Given the description of an element on the screen output the (x, y) to click on. 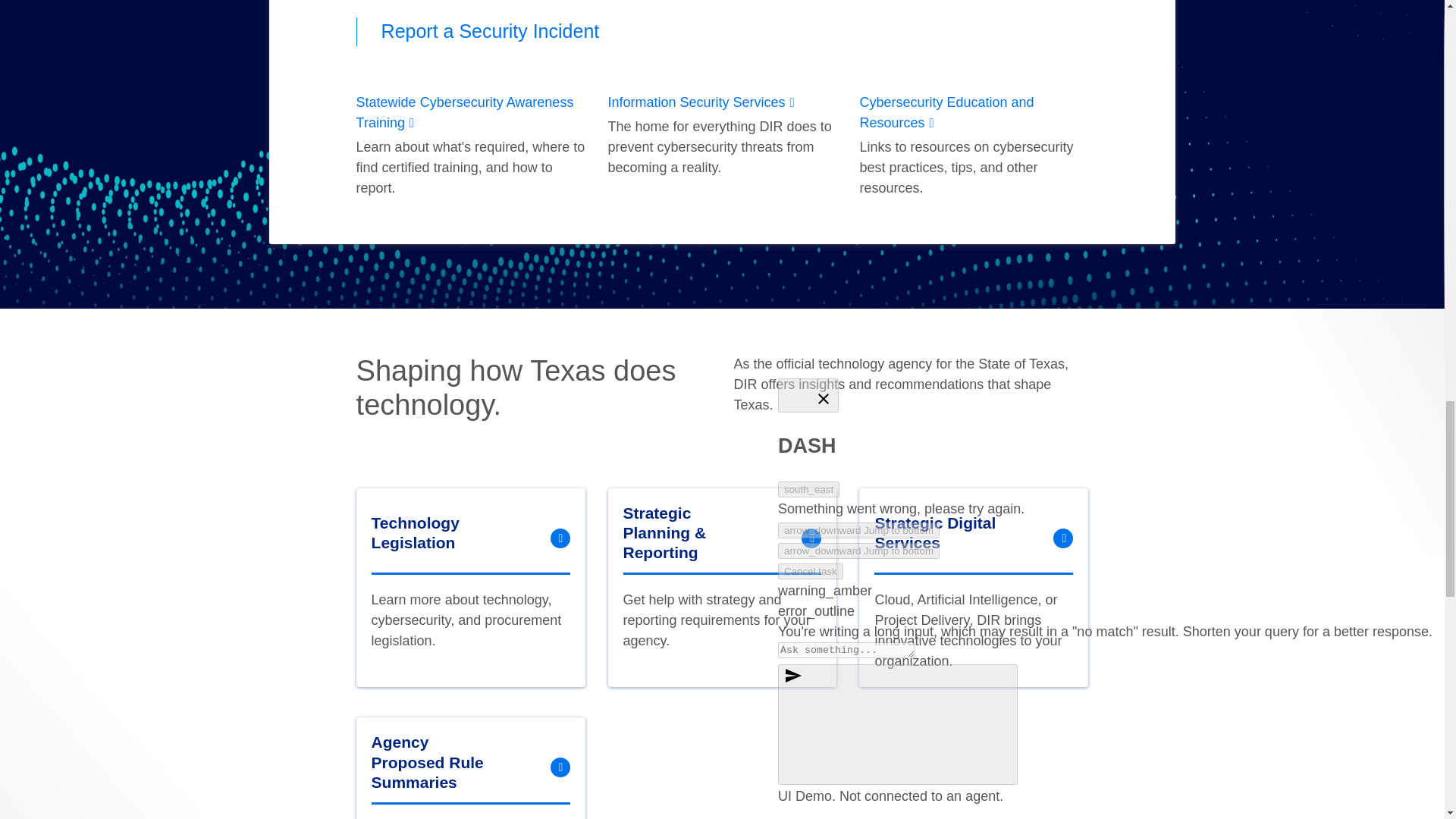
Cybersecurity Incident Management and Reporting (490, 30)
